Given the description of an element on the screen output the (x, y) to click on. 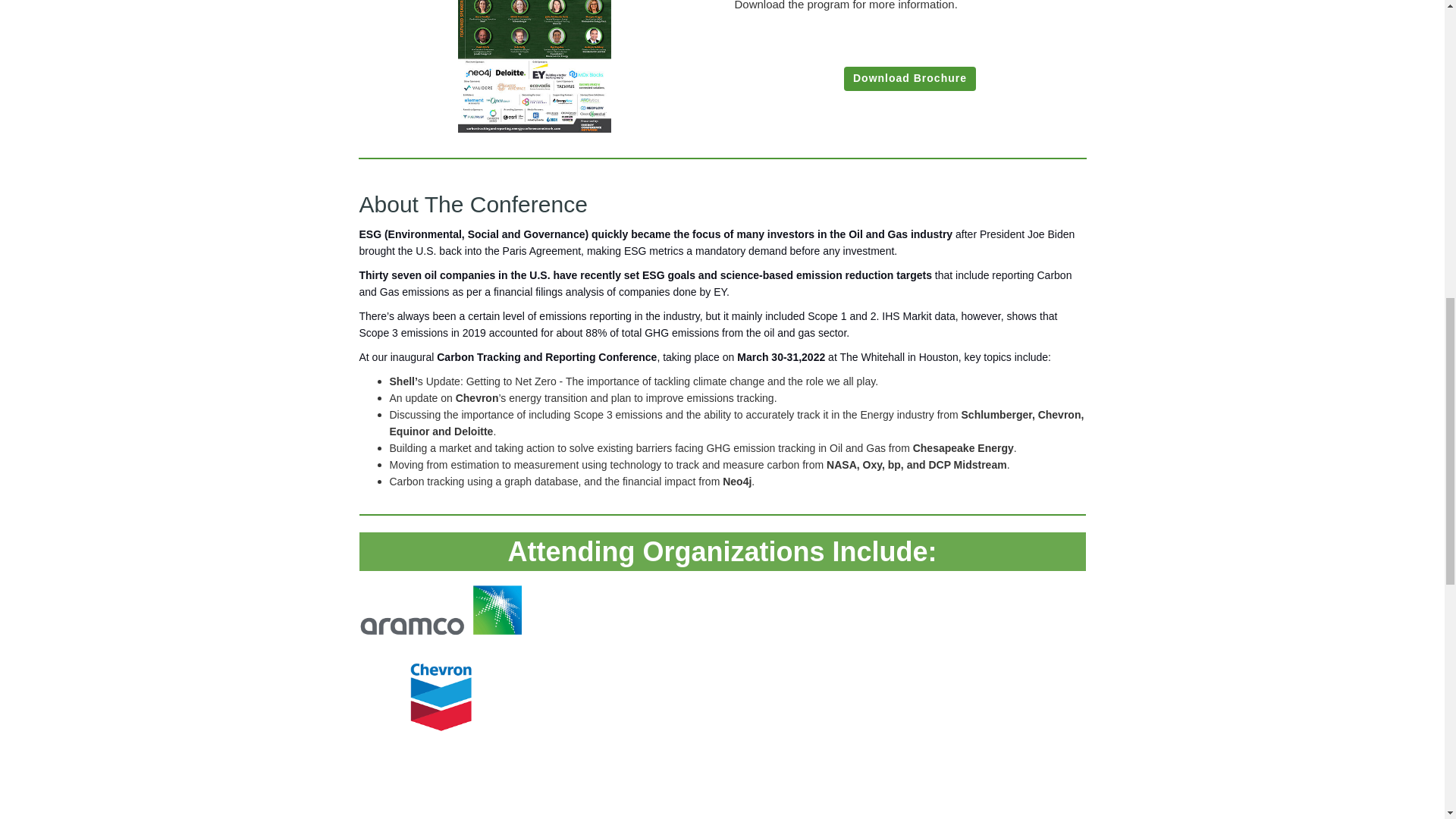
Download Brochure (909, 78)
